Given the description of an element on the screen output the (x, y) to click on. 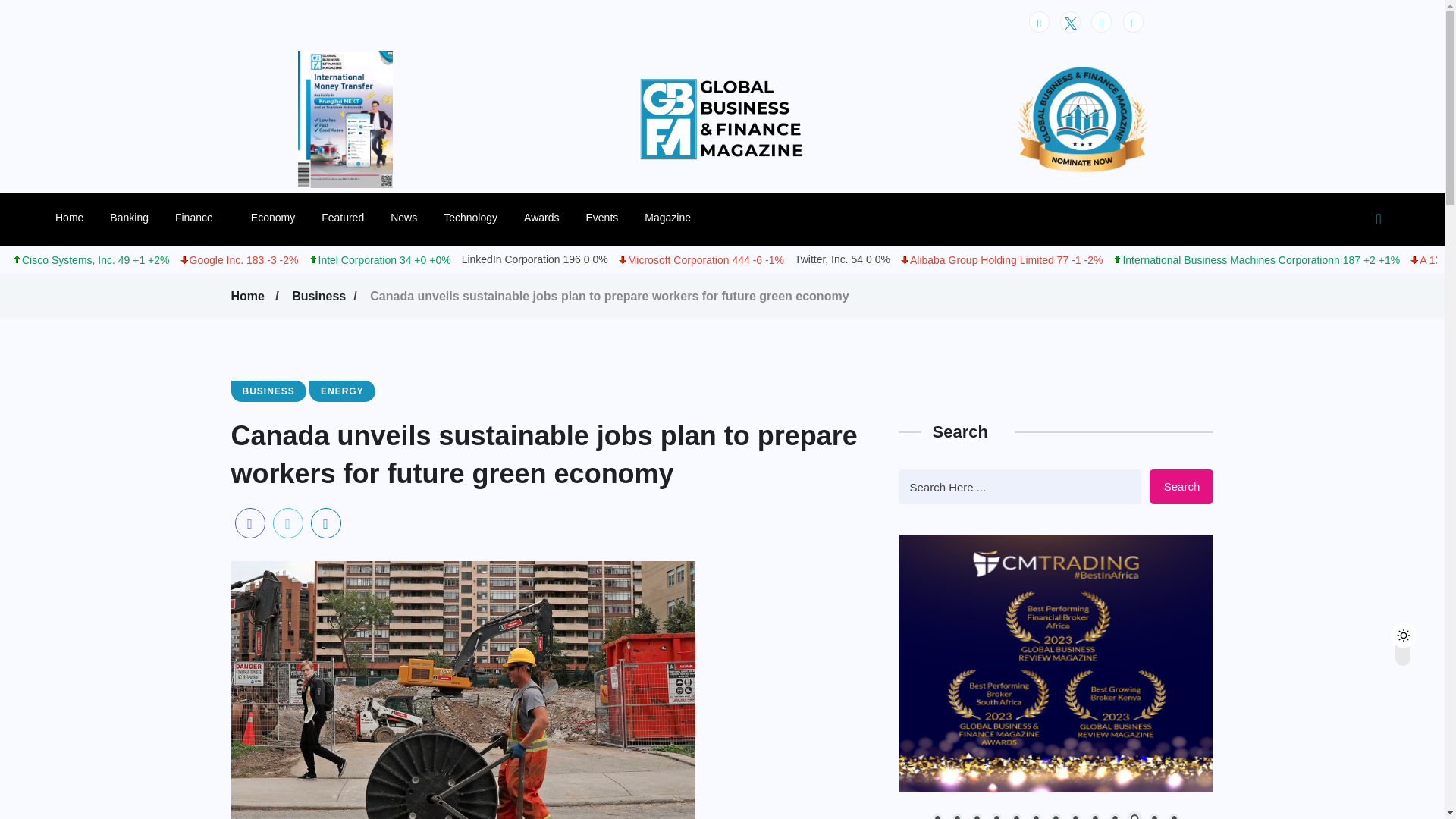
Banking (129, 216)
Awards (541, 216)
Home (68, 216)
Technology (470, 216)
Magazine (667, 216)
Featured (342, 216)
News (403, 216)
Economy (272, 216)
Events (600, 216)
Home (249, 296)
on (1415, 631)
Finance (199, 216)
